Given the description of an element on the screen output the (x, y) to click on. 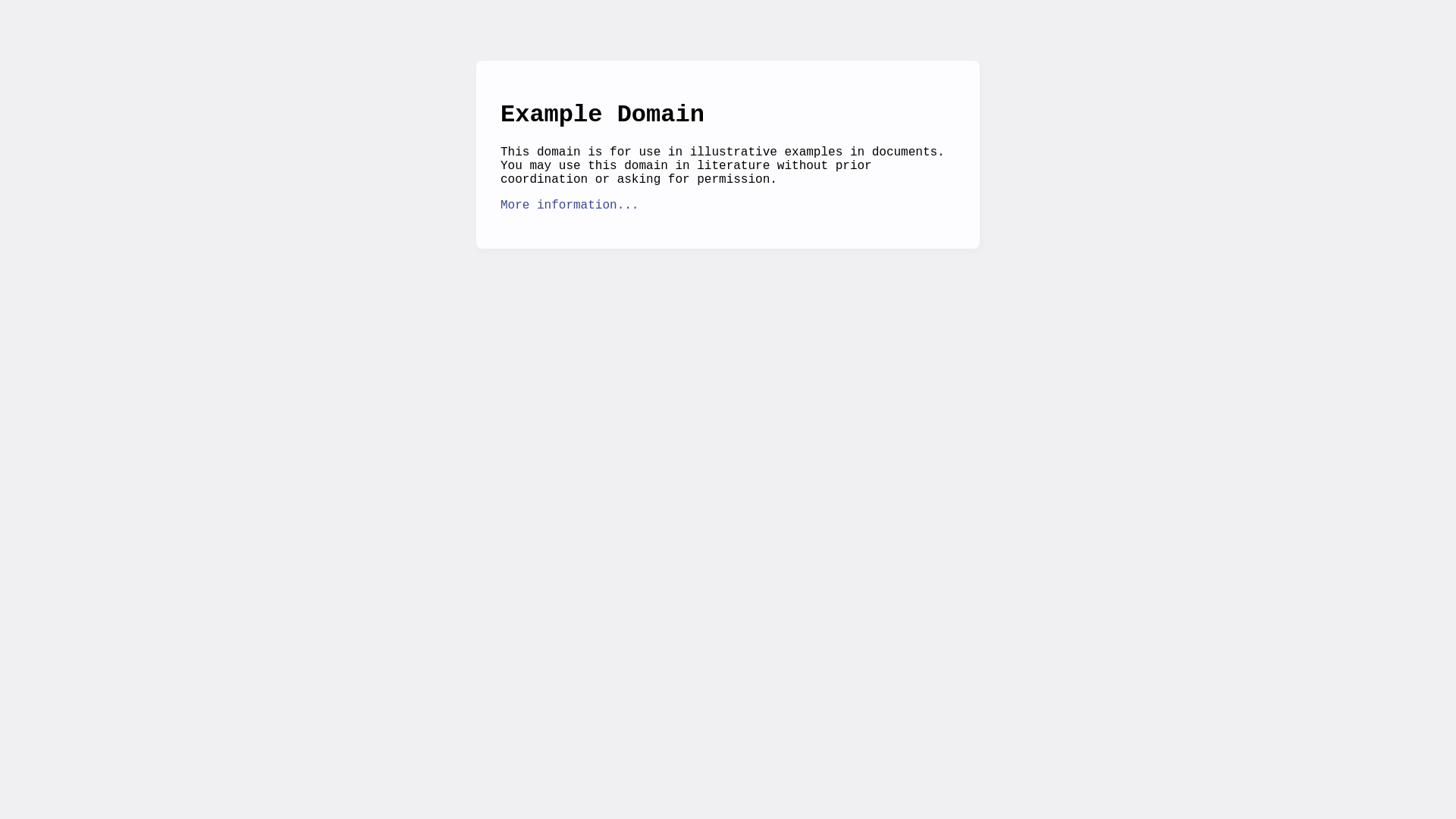
More information... Element type: text (569, 205)
